Given the description of an element on the screen output the (x, y) to click on. 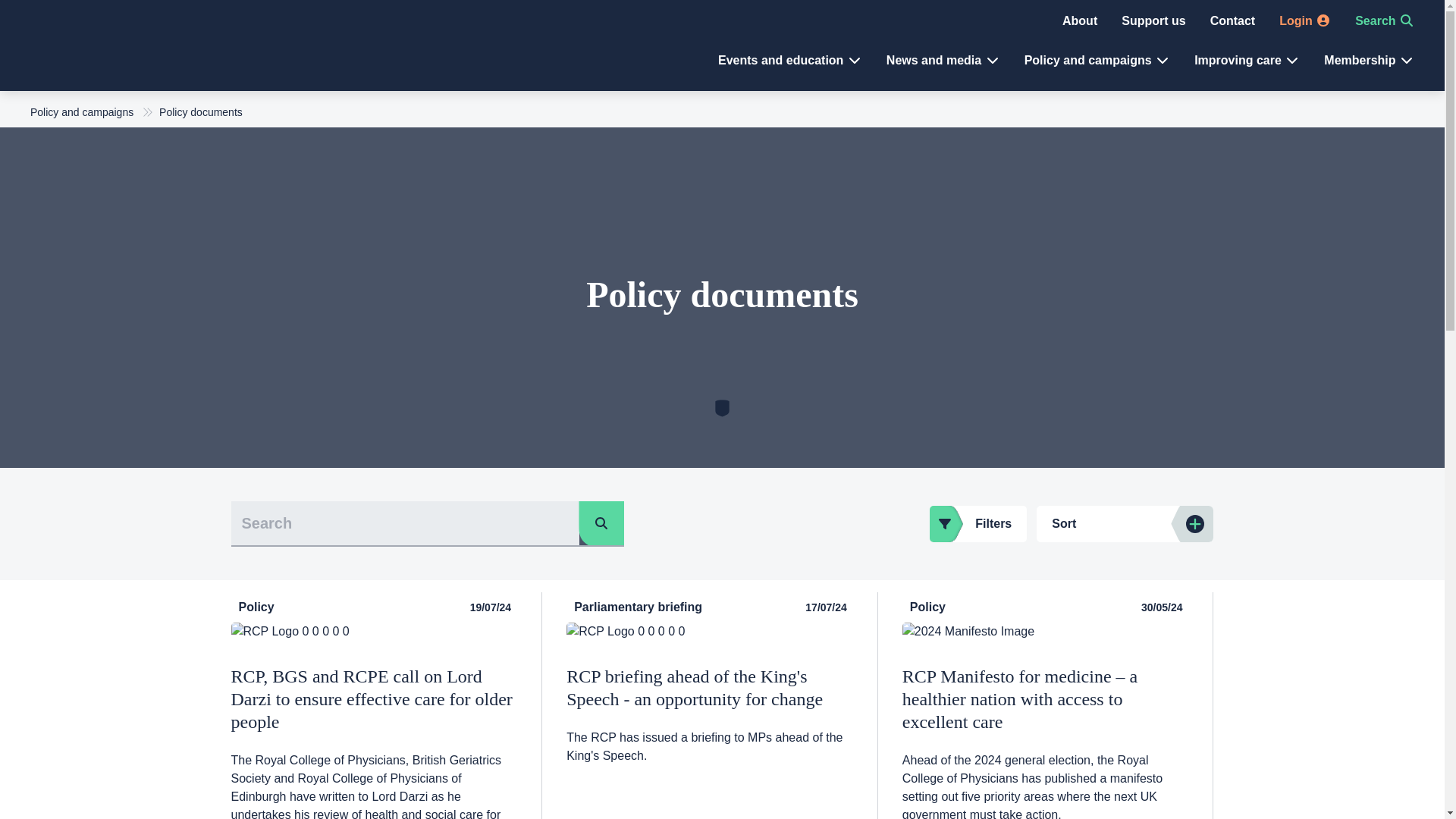
Support us (1153, 20)
News and media (943, 60)
Login (1304, 20)
About (1079, 20)
Improving care (1246, 60)
Contact (1232, 20)
Policy and campaigns (1097, 60)
